Given the description of an element on the screen output the (x, y) to click on. 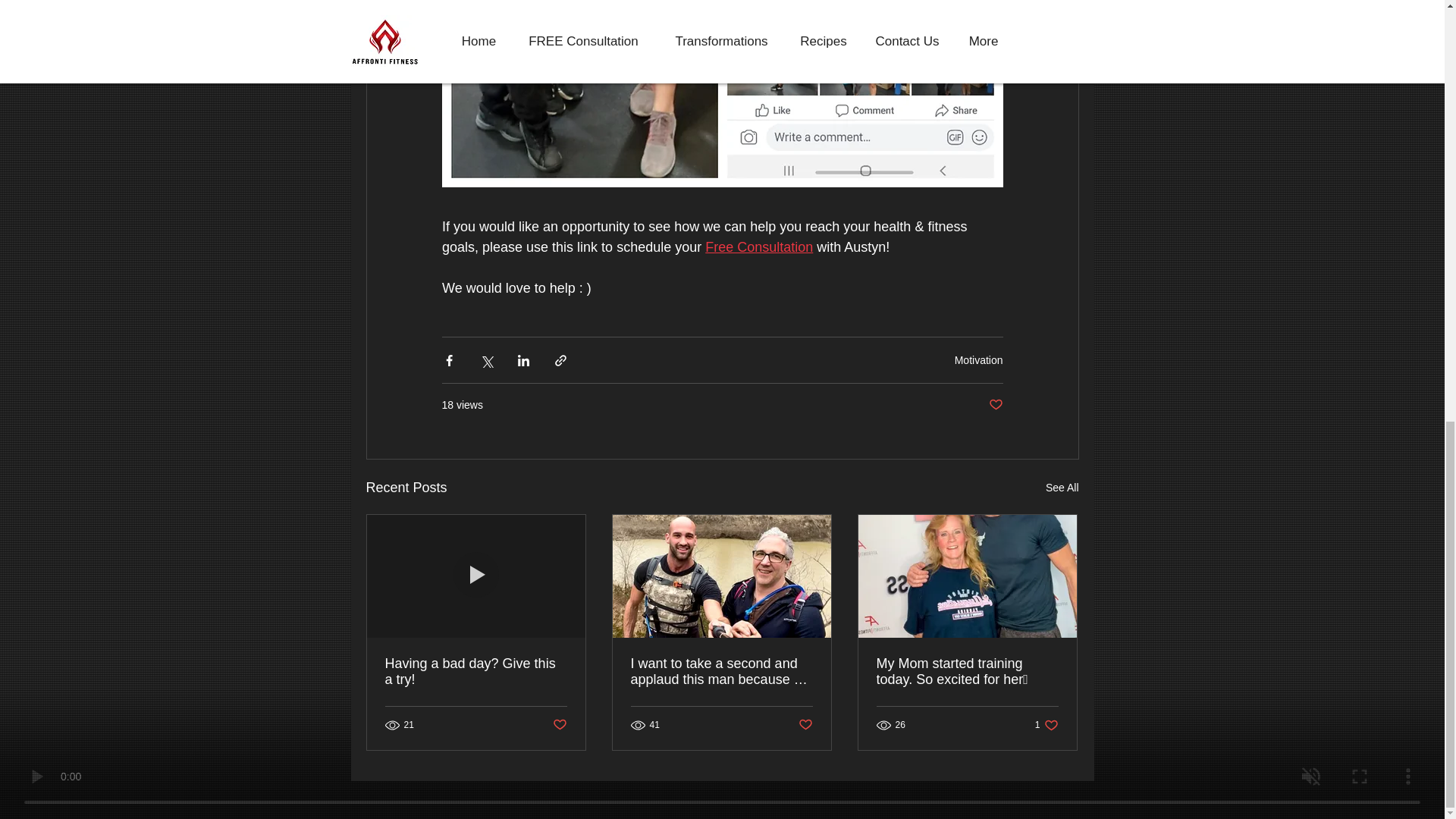
Having a bad day? Give this a try! (476, 671)
Post not marked as liked (558, 725)
Free Consultation (758, 246)
Post not marked as liked (804, 725)
See All (1061, 487)
Post not marked as liked (995, 405)
Motivation (979, 358)
